Given the description of an element on the screen output the (x, y) to click on. 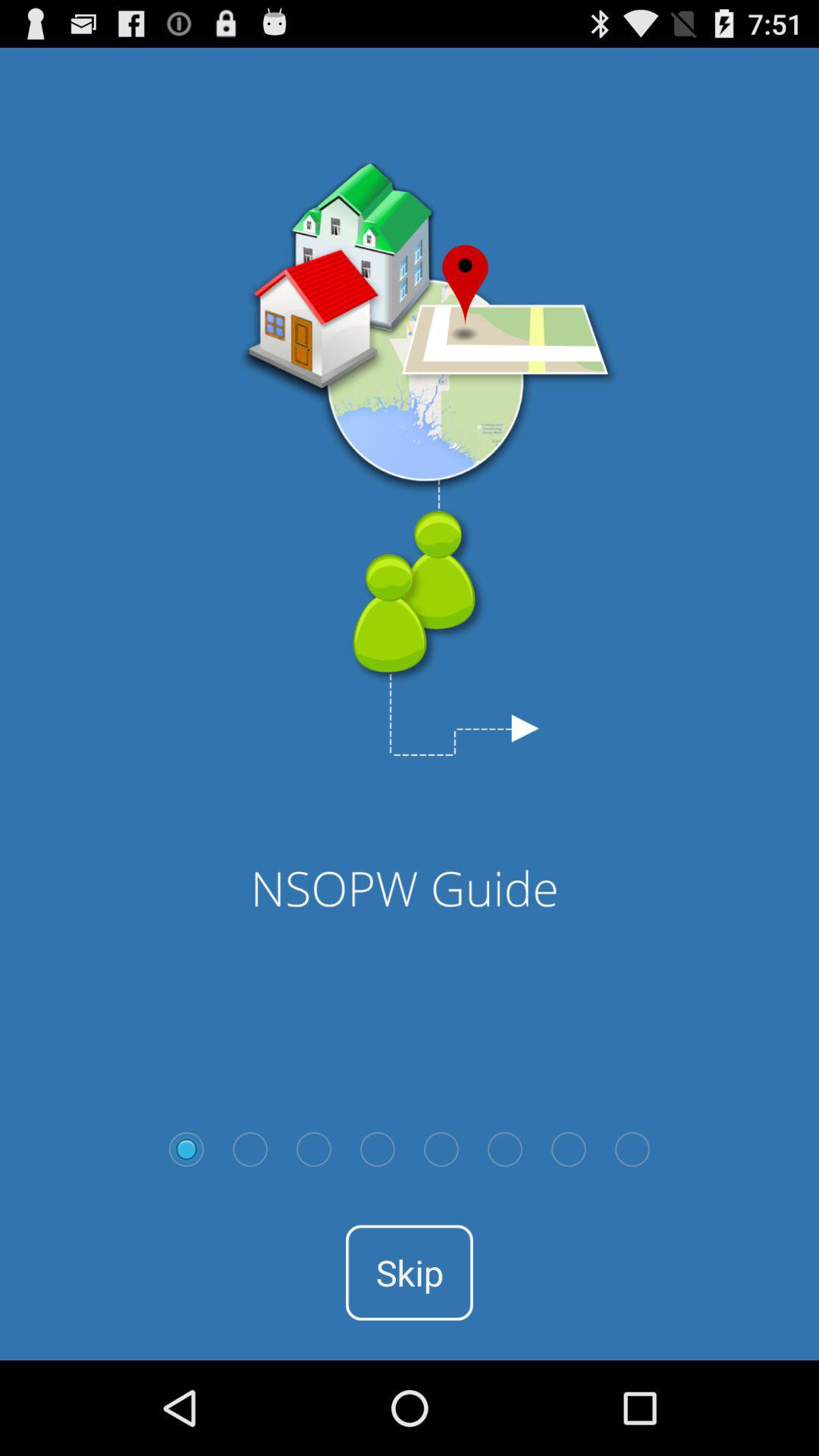
first page (186, 1149)
